Given the description of an element on the screen output the (x, y) to click on. 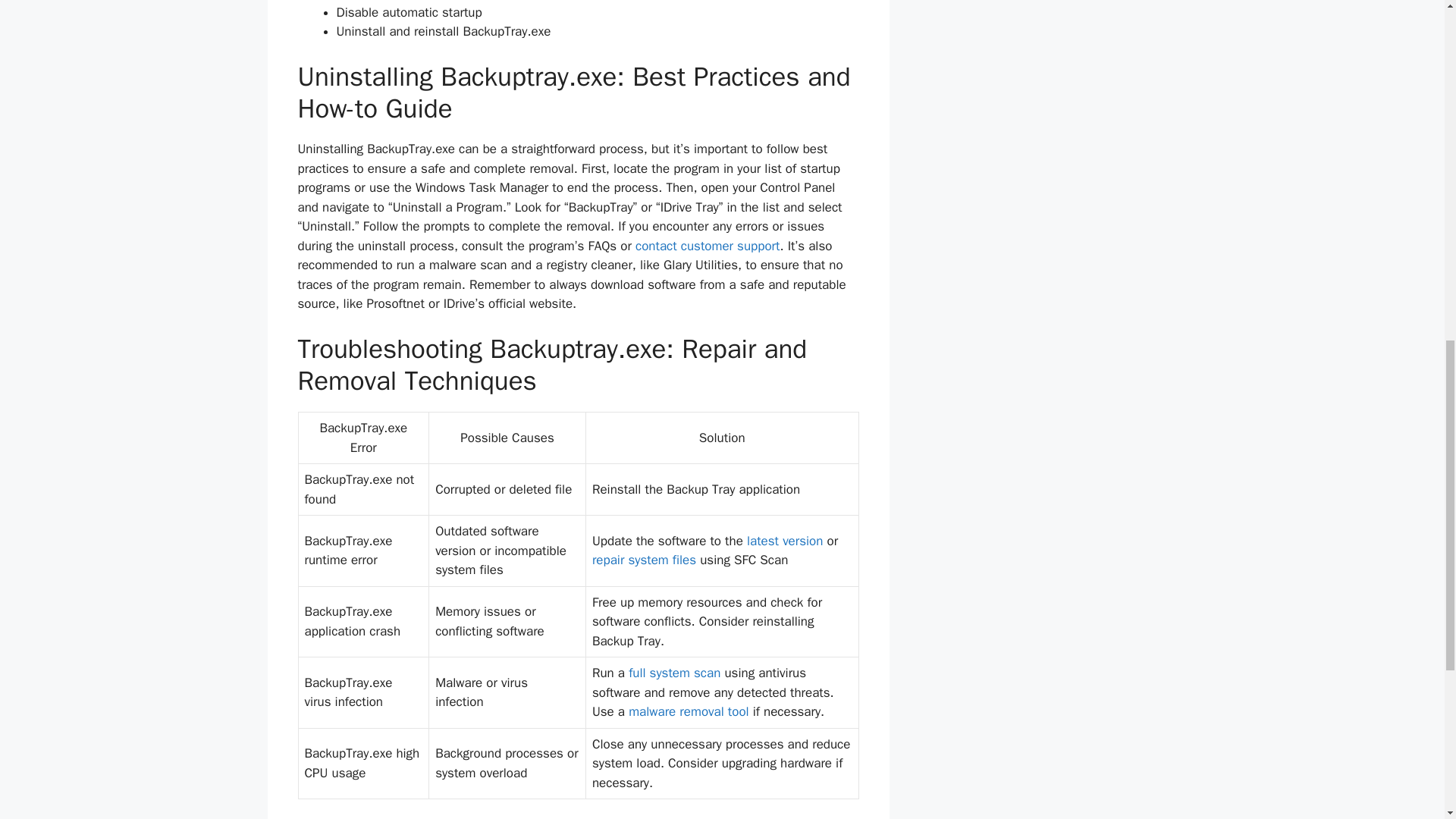
What is backupfull.exe and its errors? (688, 711)
malware removal tool (688, 711)
full system scan (674, 672)
repair system files (643, 560)
Bangdun.exe Error and Troubleshooting Guide (643, 560)
contact customer support (706, 245)
latest version (784, 540)
